Given the description of an element on the screen output the (x, y) to click on. 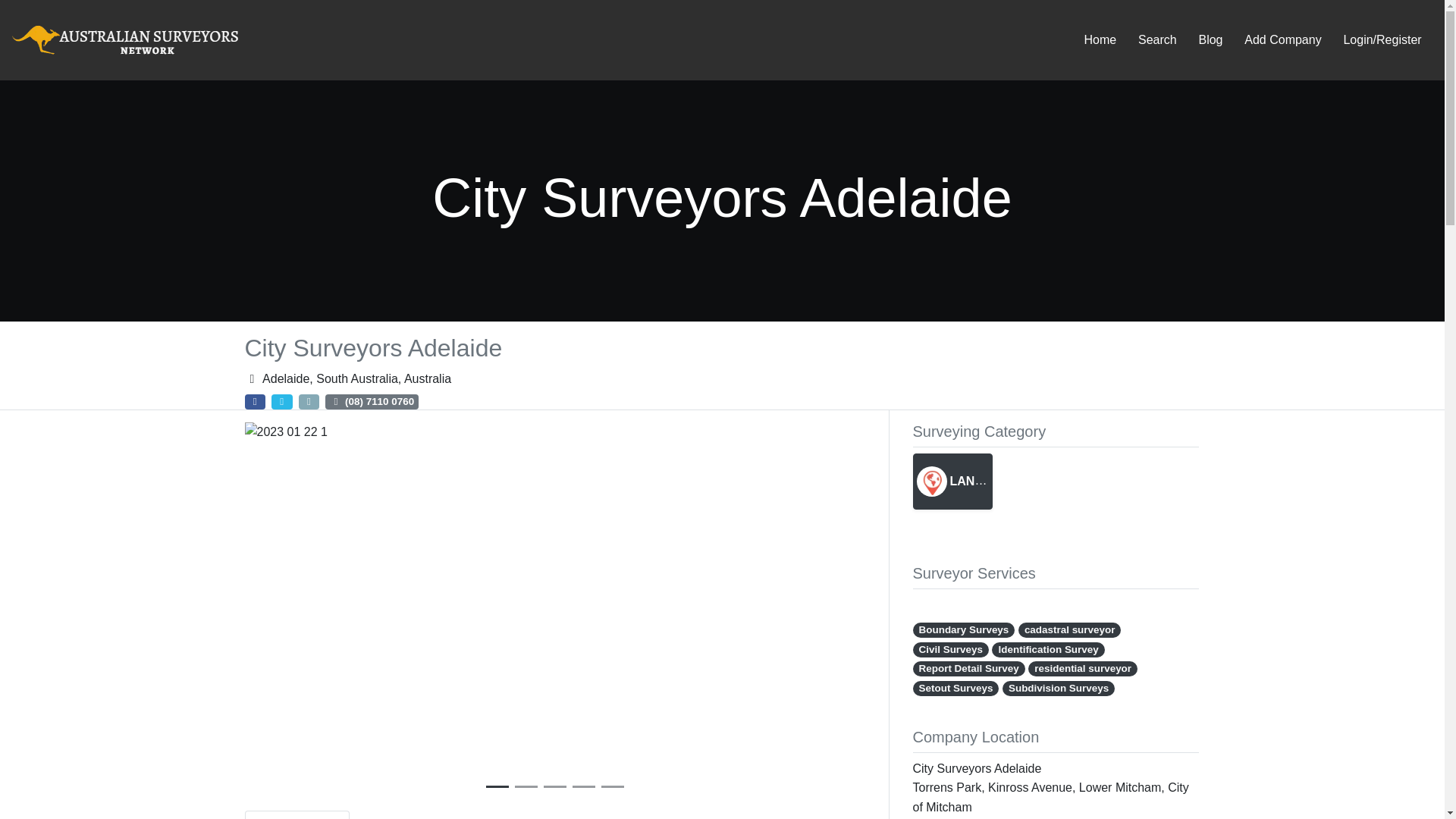
LAND SURVEYORS (988, 481)
Description (296, 814)
Report Detail Survey (968, 668)
Civil Surveys (951, 649)
Business Hours (414, 814)
cadastral surveyor (1069, 630)
Photos (519, 814)
Home (1099, 39)
Photos (519, 814)
Blog (1210, 39)
Subdivision Surveys (1059, 688)
Business Hours (414, 814)
Search (1157, 39)
Boundary Surveys (963, 630)
residential surveyor (1082, 668)
